Given the description of an element on the screen output the (x, y) to click on. 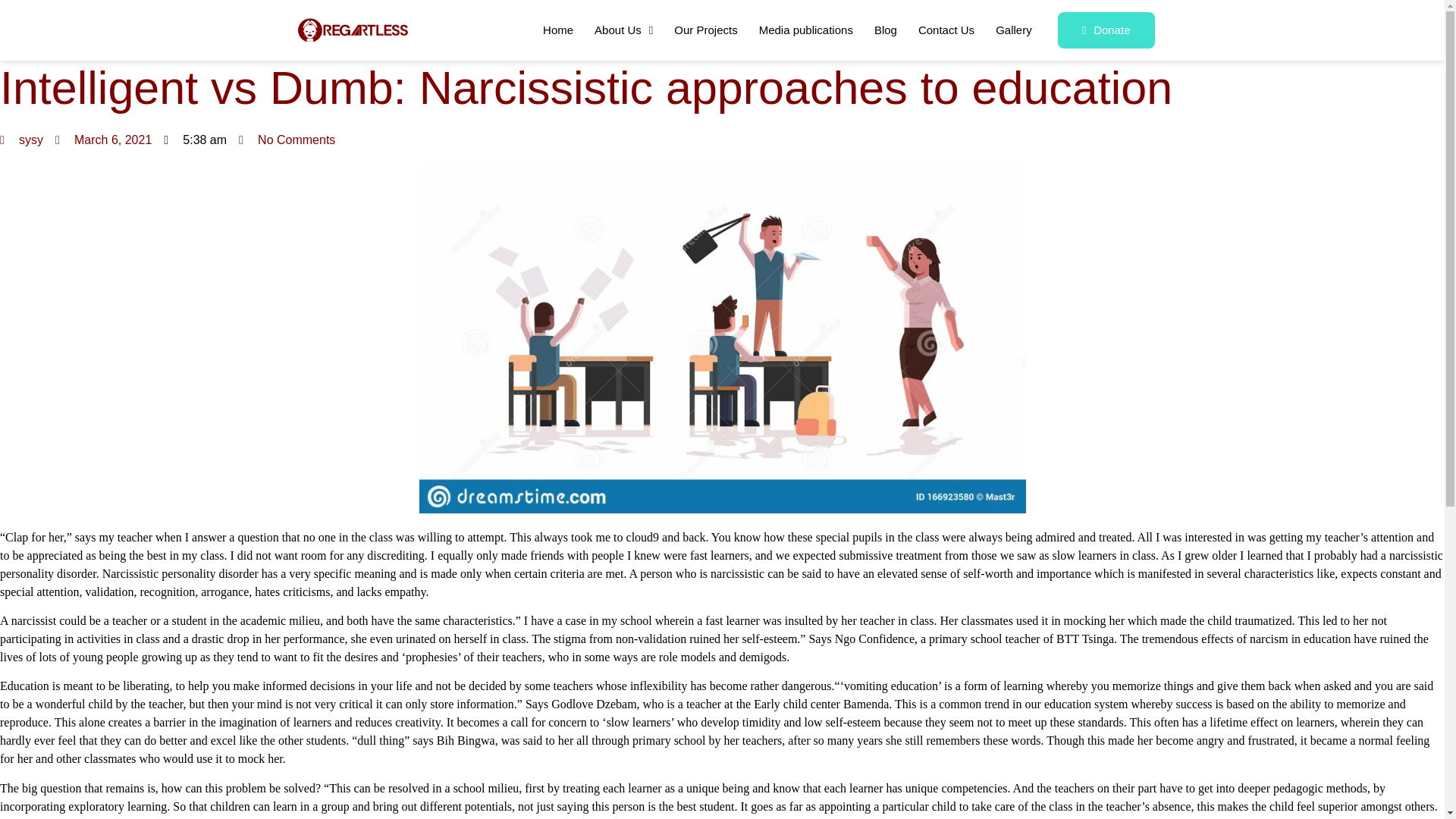
Home (557, 29)
About Us (623, 29)
Our Projects (705, 29)
Contact Us (946, 29)
Donate (1106, 30)
sysy (21, 140)
Gallery (1013, 29)
Blog (885, 29)
No Comments (286, 140)
March 6, 2021 (103, 140)
